Given the description of an element on the screen output the (x, y) to click on. 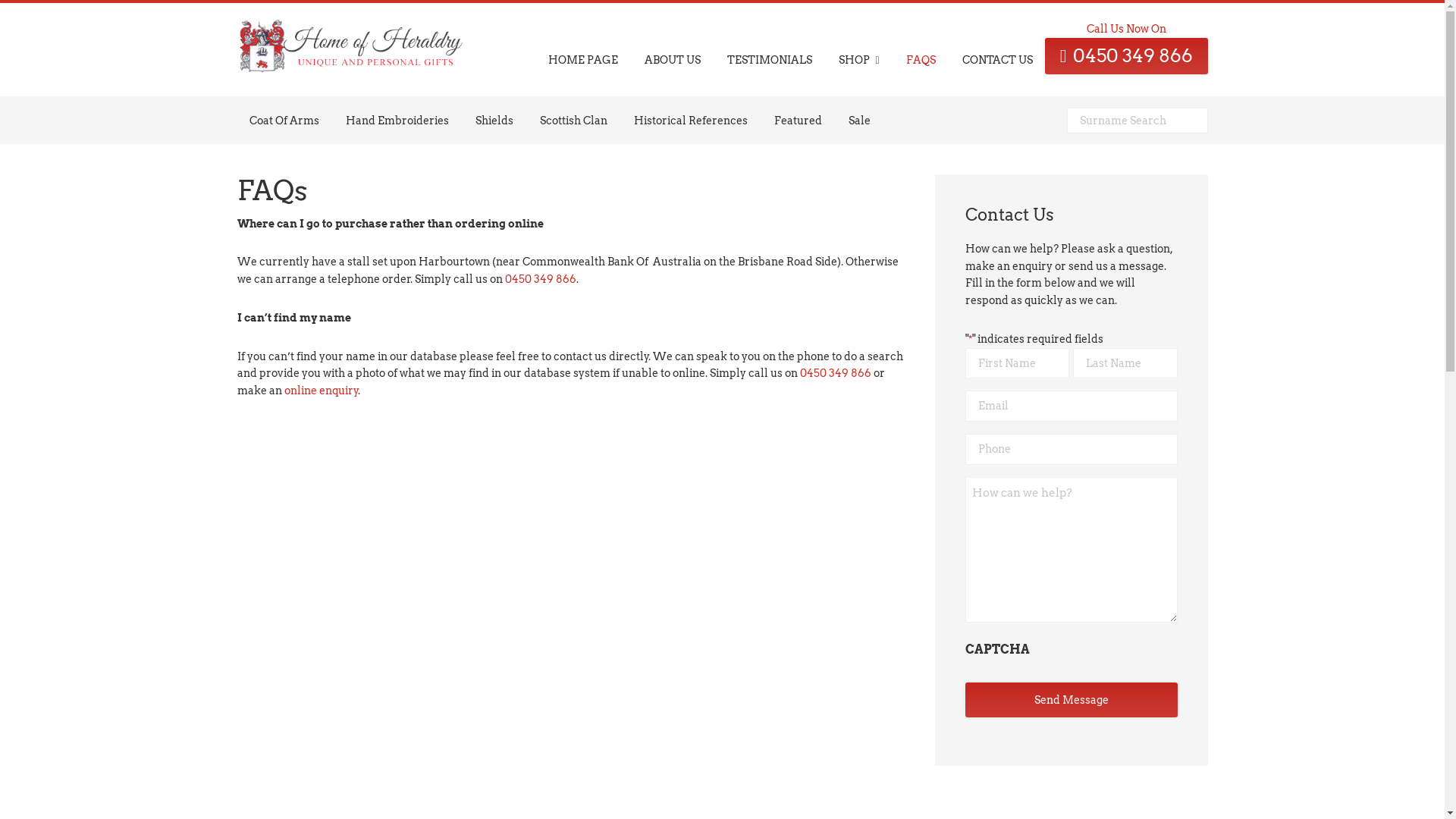
0450 349 866 Element type: text (540, 279)
Scottish Clan Element type: text (573, 120)
online enquiry Element type: text (320, 390)
HOME PAGE Element type: text (583, 49)
Historical References Element type: text (690, 120)
Search for Surname Element type: text (1207, 106)
ABOUT US Element type: text (672, 49)
Sale Element type: text (858, 120)
CONTACT US Element type: text (997, 49)
Call Us Now On
0450 349 866 Element type: text (1126, 47)
TESTIMONIALS Element type: text (769, 49)
Featured Element type: text (797, 120)
Shields Element type: text (493, 120)
FAQS Element type: text (920, 49)
Hand Embroideries Element type: text (397, 120)
Coat Of Arms Element type: text (283, 120)
0450 349 866 Element type: text (834, 373)
SHOP Element type: text (858, 49)
Send Message Element type: text (1070, 700)
